Given the description of an element on the screen output the (x, y) to click on. 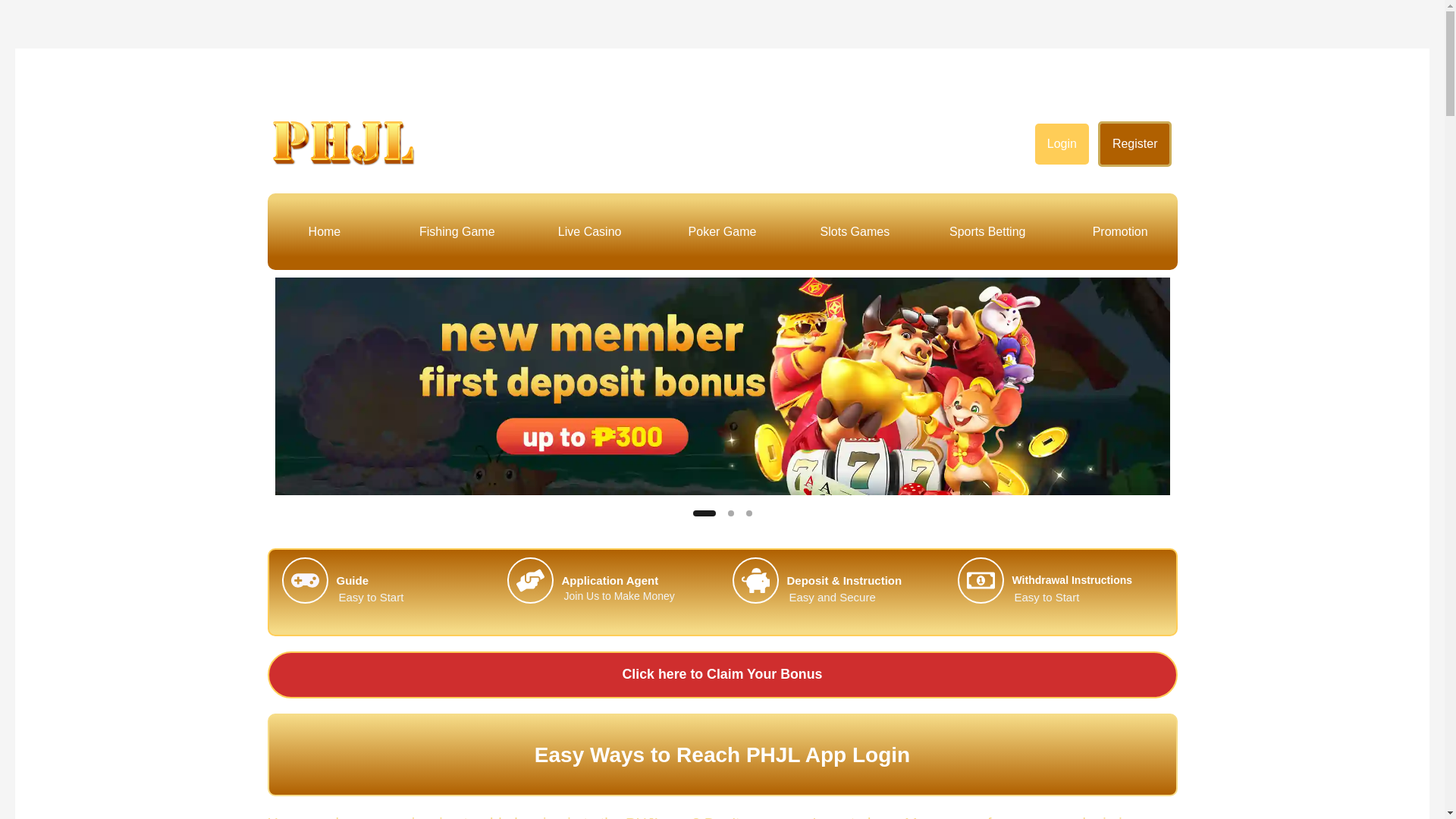
Register (1135, 143)
Login (1062, 143)
Click here to Claim Your Bonus (721, 674)
